Given the description of an element on the screen output the (x, y) to click on. 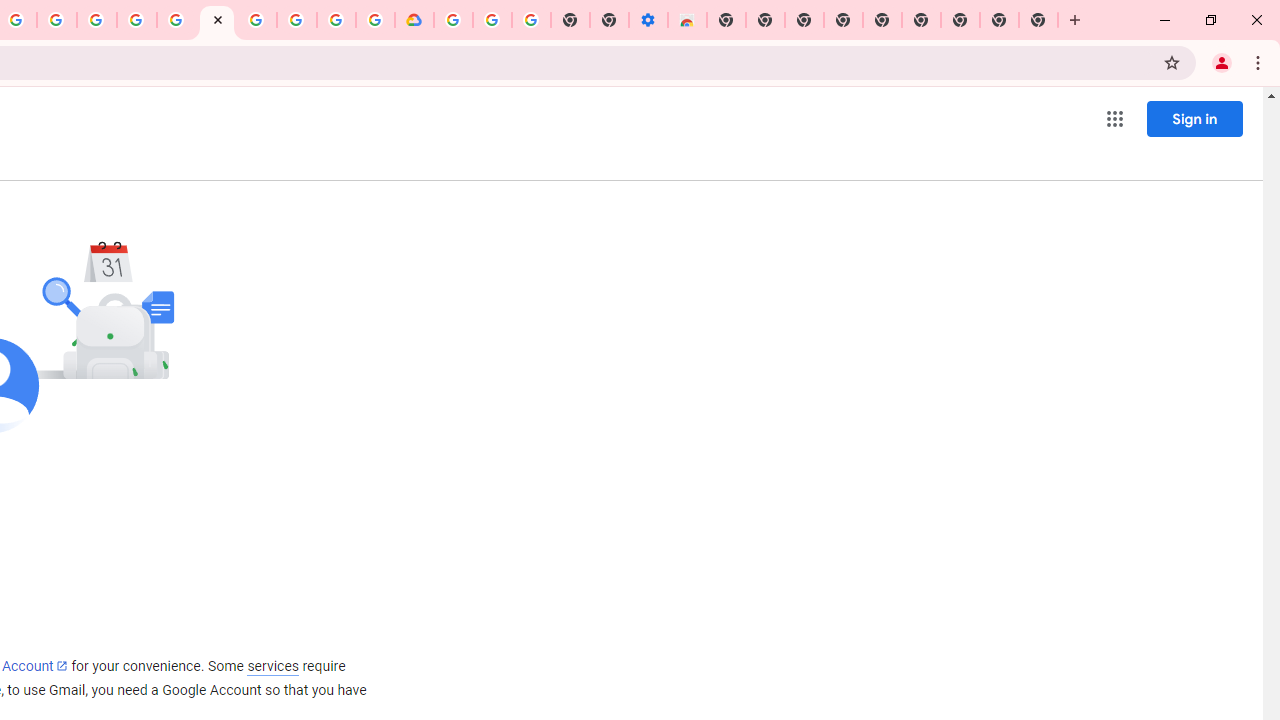
Sign in - Google Accounts (453, 20)
New Tab (1038, 20)
Create your Google Account (56, 20)
Chrome Web Store - Accessibility extensions (687, 20)
New Tab (726, 20)
Create your Google Account (336, 20)
